Given the description of an element on the screen output the (x, y) to click on. 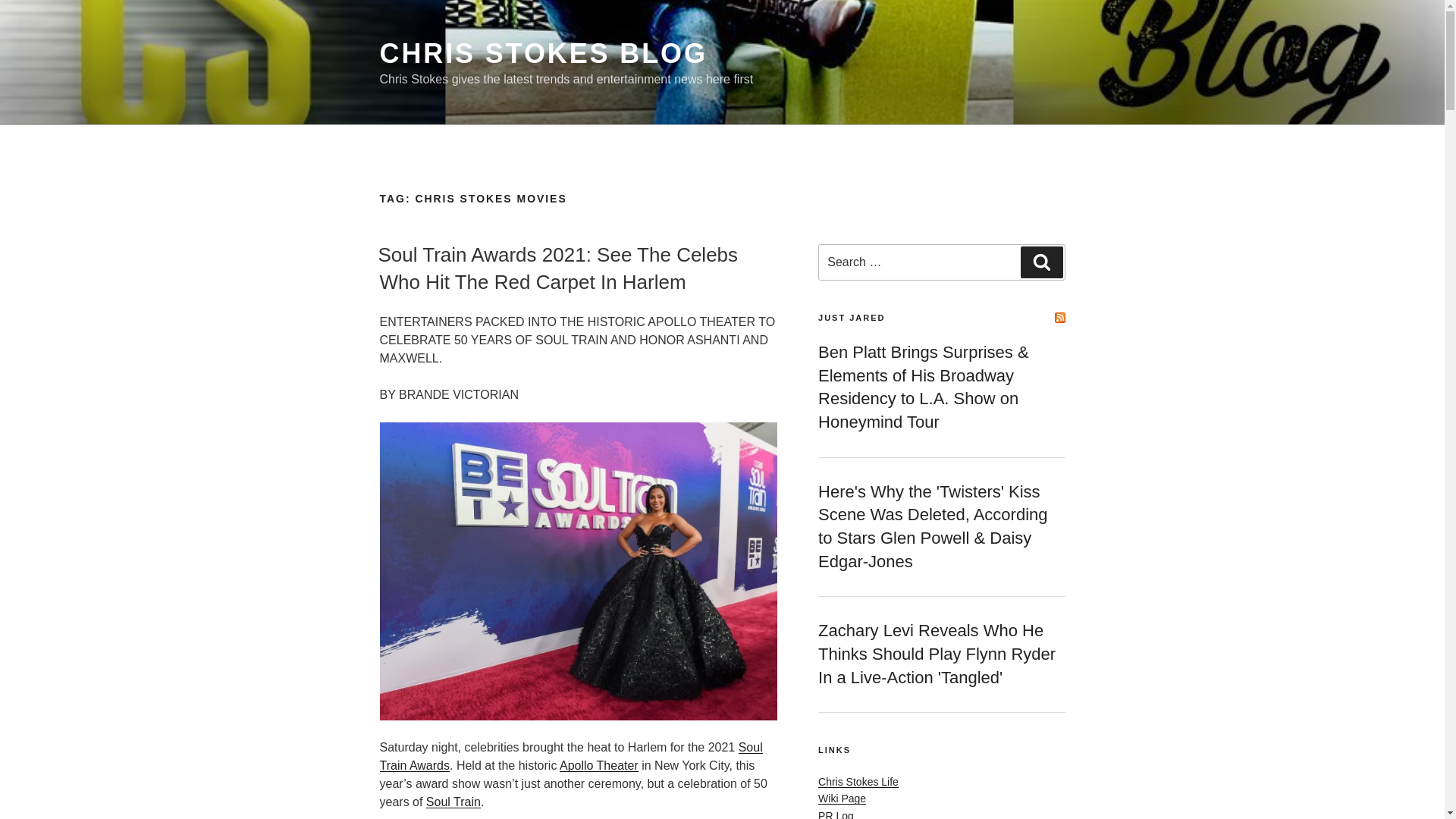
Soul Train Awards (569, 756)
Chris Stokes Life (858, 781)
CHRIS STOKES BLOG (542, 52)
Apollo Theater (599, 765)
Soul Train (453, 801)
